Given the description of an element on the screen output the (x, y) to click on. 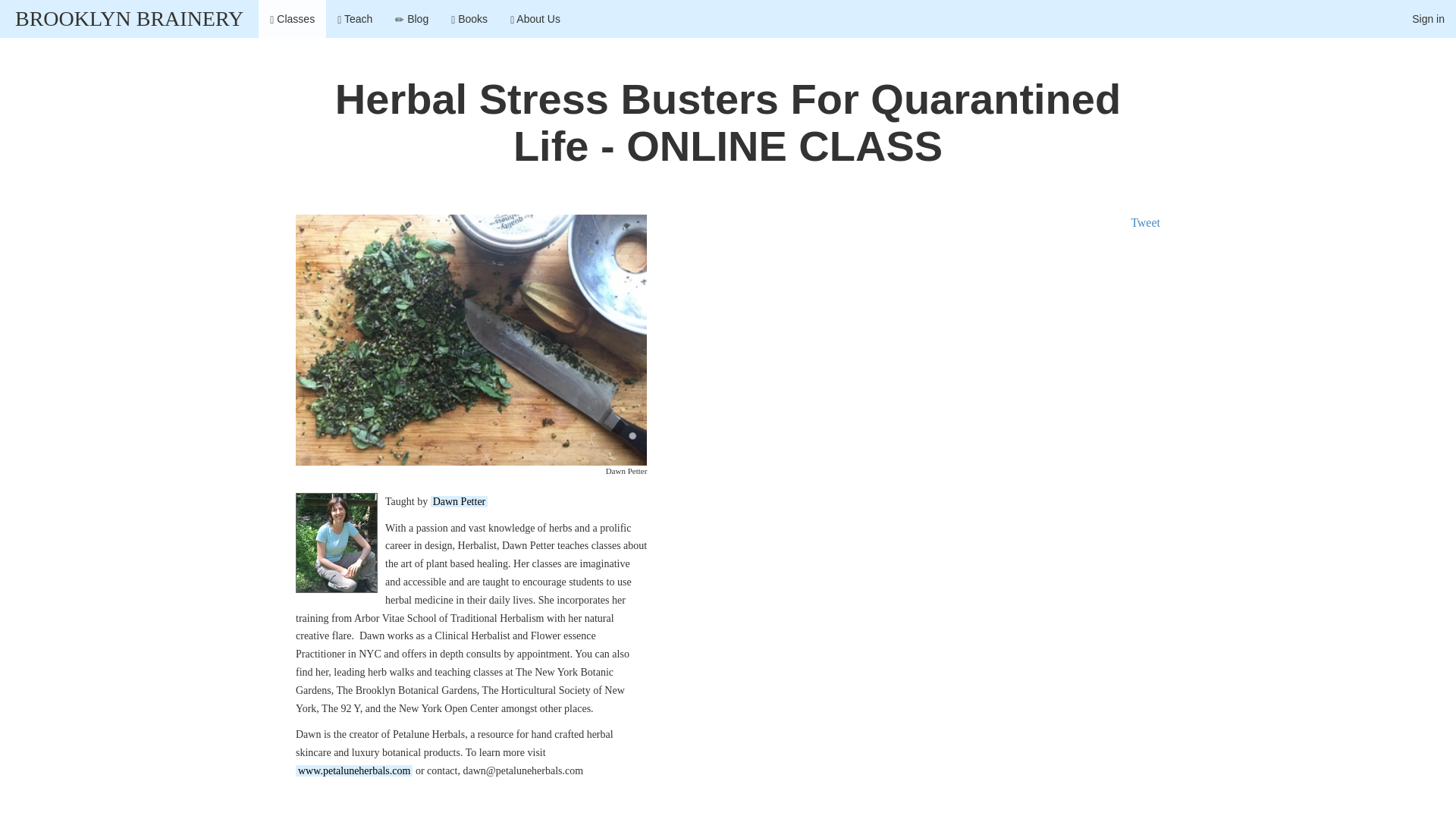
Tweet (1145, 222)
Teach (355, 18)
Blog (411, 18)
BROOKLYN BRAINERY (129, 18)
www.petaluneherbals.com (353, 770)
About Us (535, 18)
Books (469, 18)
Classes (292, 18)
Dawn Petter (458, 501)
